Given the description of an element on the screen output the (x, y) to click on. 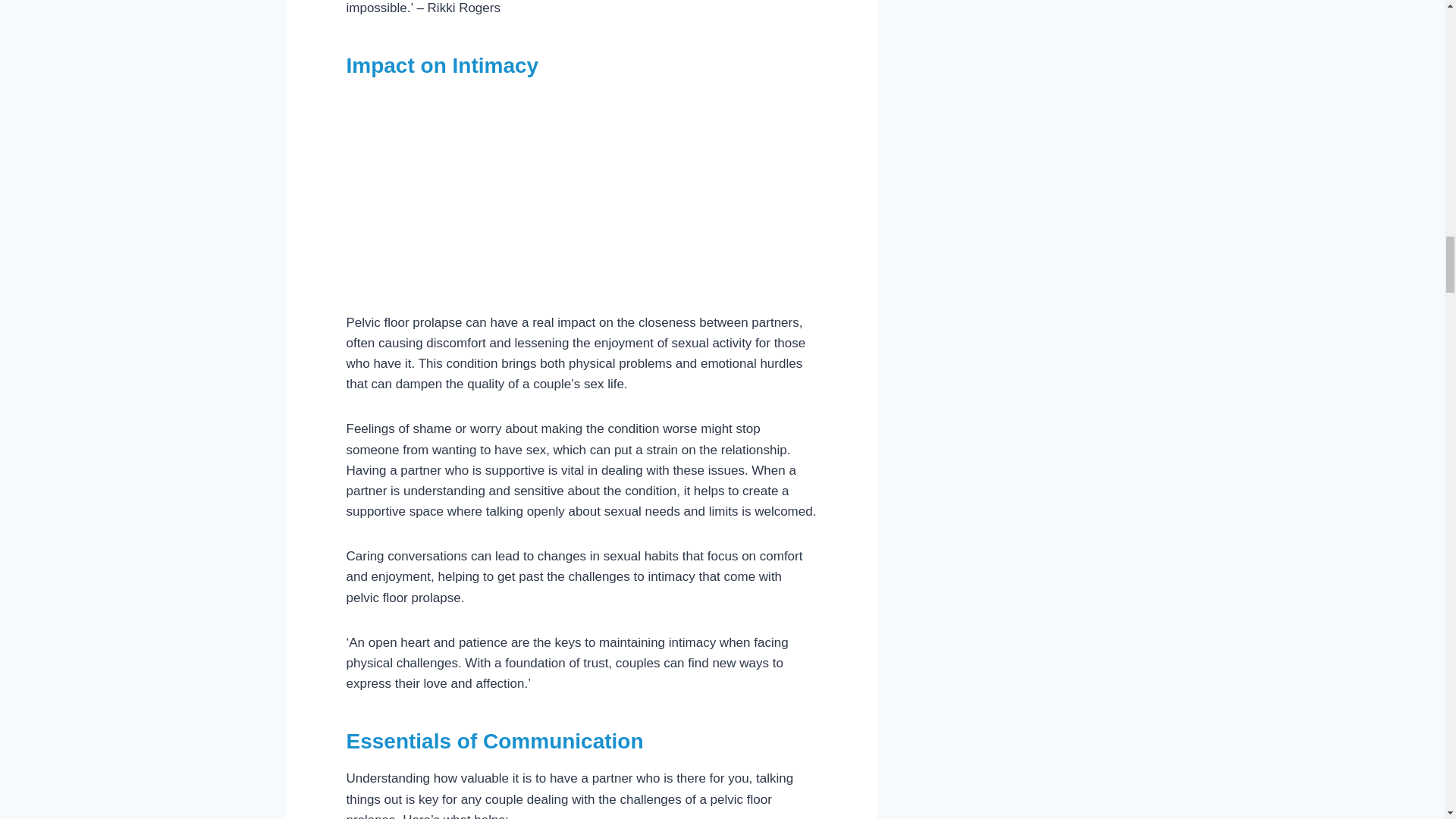
YouTube video player (535, 198)
